Given the description of an element on the screen output the (x, y) to click on. 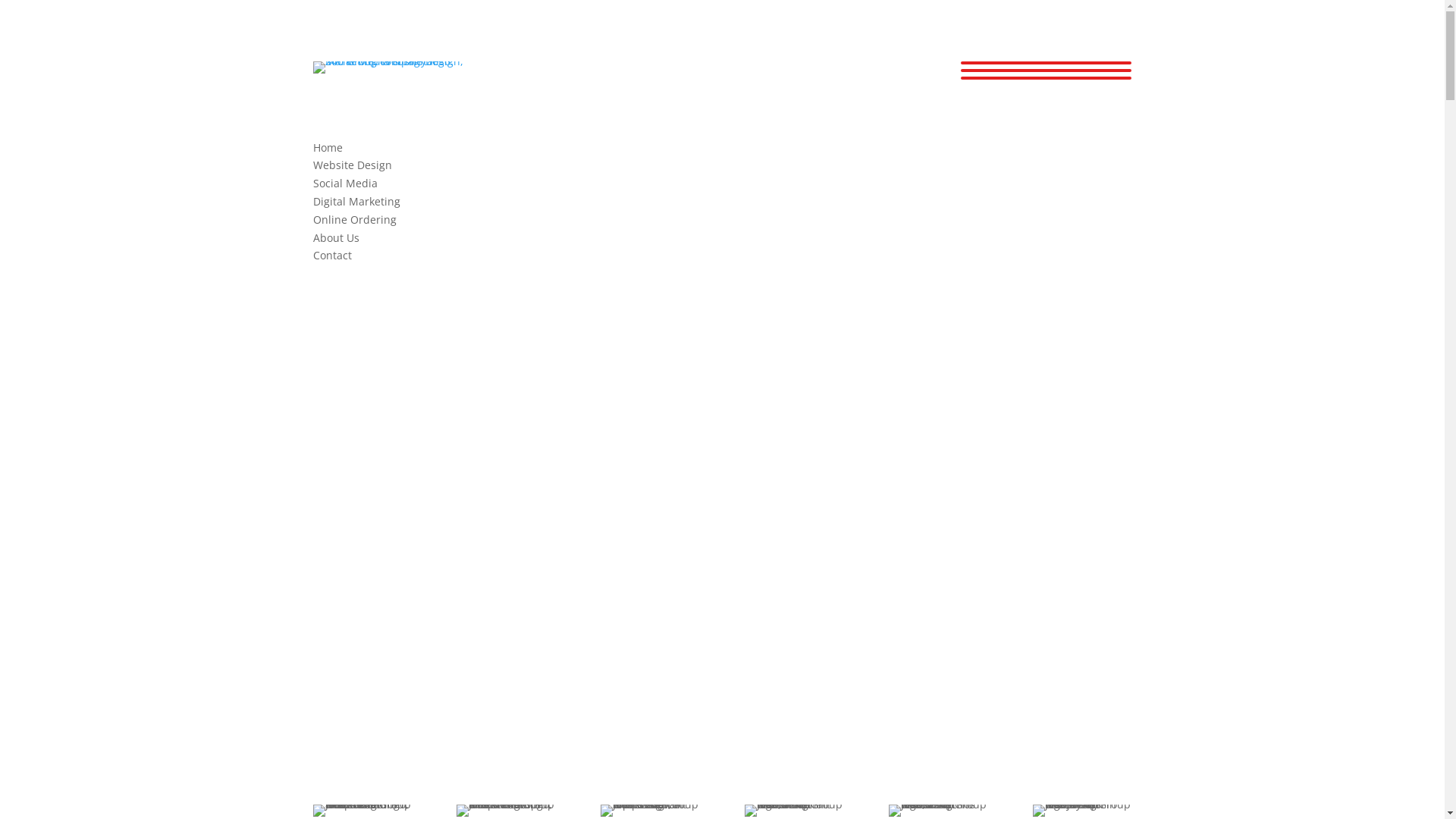
Free Consultation Element type: text (937, 574)
Free Consultation Element type: text (721, 283)
Call (715) 697-0200 Element type: text (506, 574)
